Given the description of an element on the screen output the (x, y) to click on. 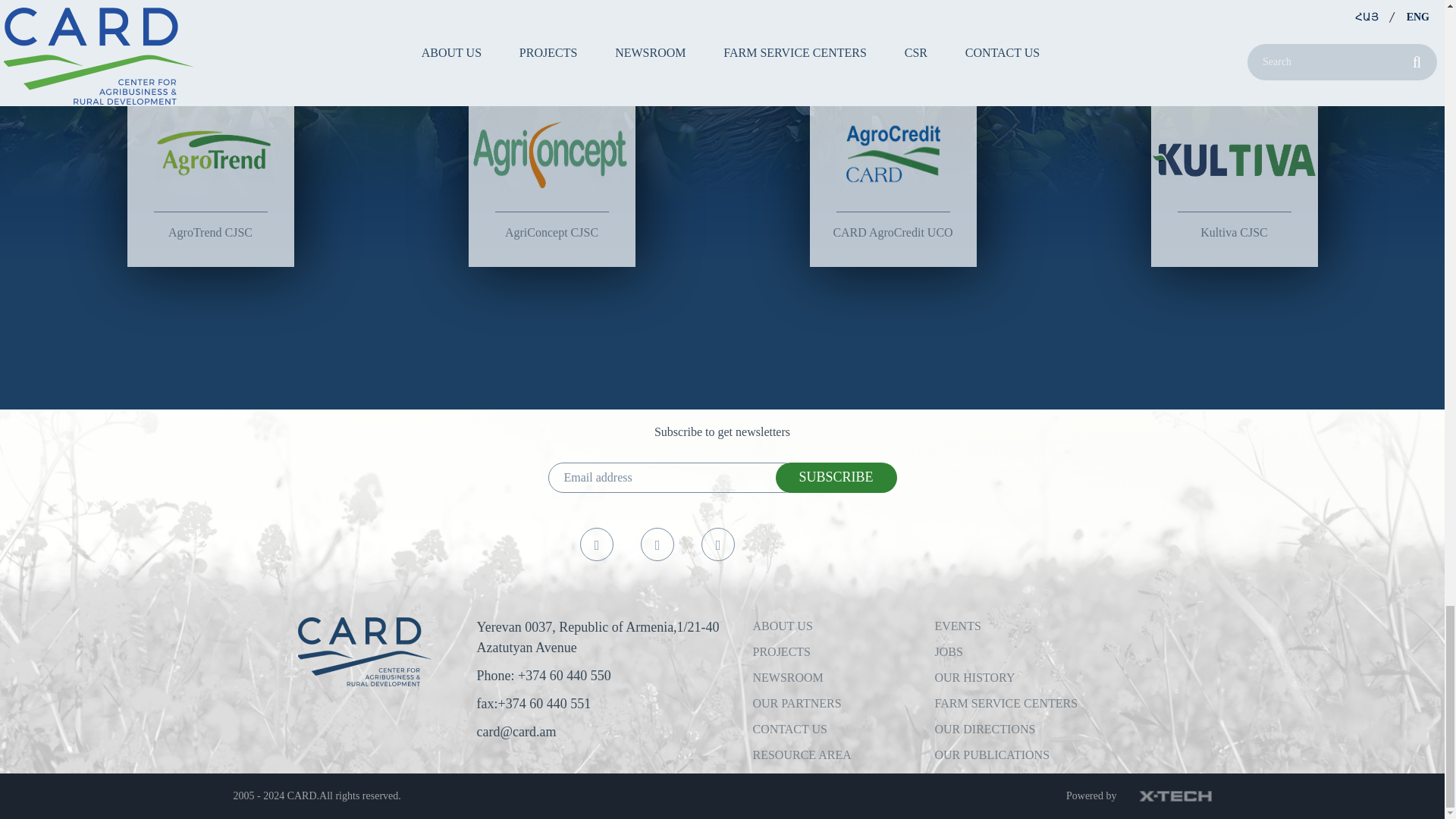
ABOUT US (782, 625)
Kultiva CJSC (1234, 170)
CARD AgroCredit UCO (892, 170)
SUBSCRIBE (835, 477)
EVENTS (956, 625)
AgriConcept CJSC (551, 170)
PROJECTS (780, 651)
AgroTrend CJSC (211, 170)
JOBS (948, 651)
OUR PARTNERS (796, 703)
OUR HISTORY (974, 676)
FARM SERVICE CENTERS (1005, 703)
NEWSROOM (787, 676)
